Given the description of an element on the screen output the (x, y) to click on. 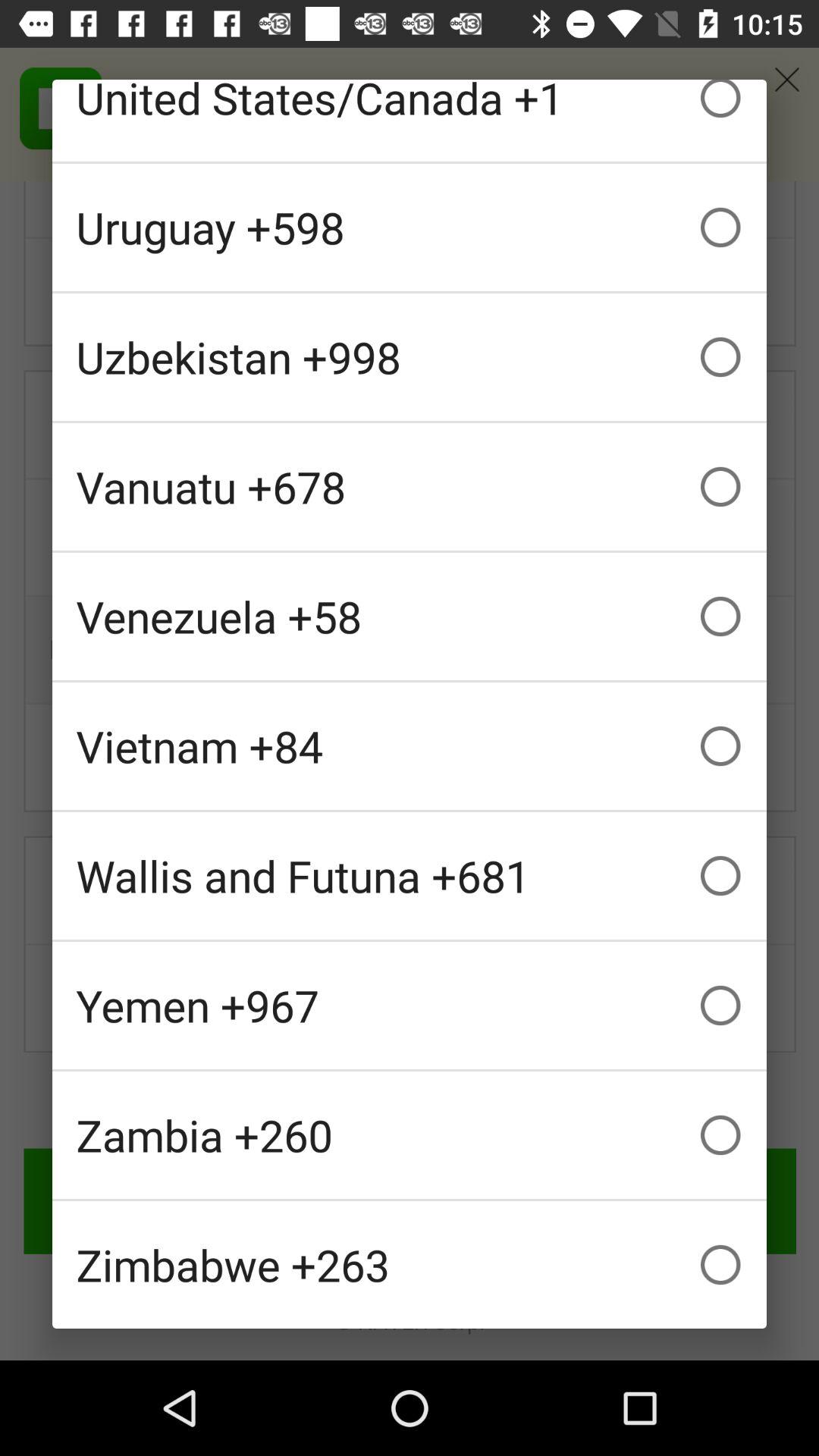
open item below wallis and futuna item (409, 1005)
